Given the description of an element on the screen output the (x, y) to click on. 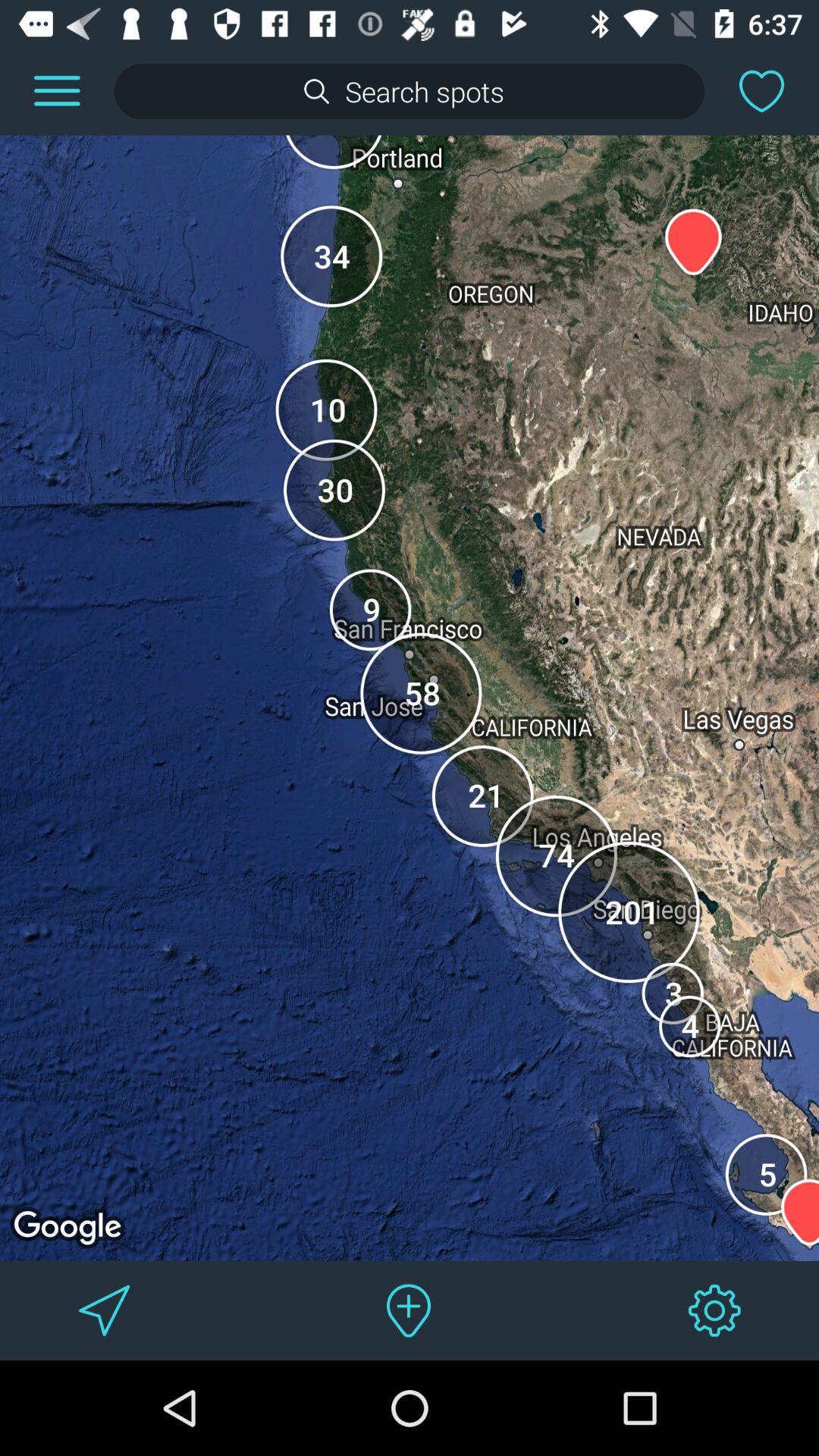
launch item at the center (409, 703)
